Given the description of an element on the screen output the (x, y) to click on. 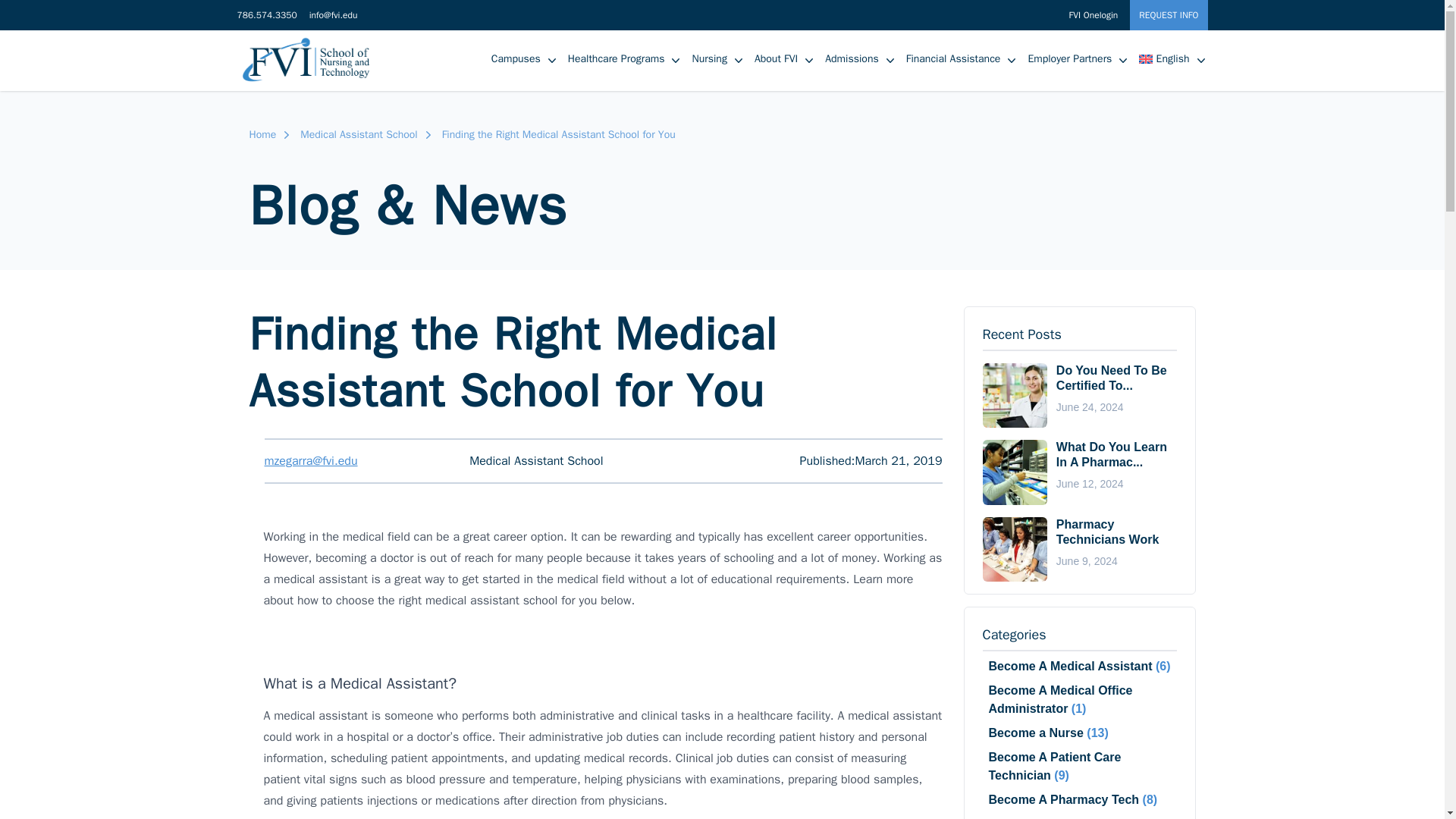
786.574.3350 (266, 15)
English (1163, 58)
FVI Onelogin (1093, 15)
About FVI (775, 58)
Campuses (516, 58)
Financial Assistance (953, 58)
FVI School of Nursing (313, 60)
Admissions (851, 58)
Healthcare Programs (616, 58)
Nursing (708, 58)
REQUEST INFO (1168, 15)
